Given the description of an element on the screen output the (x, y) to click on. 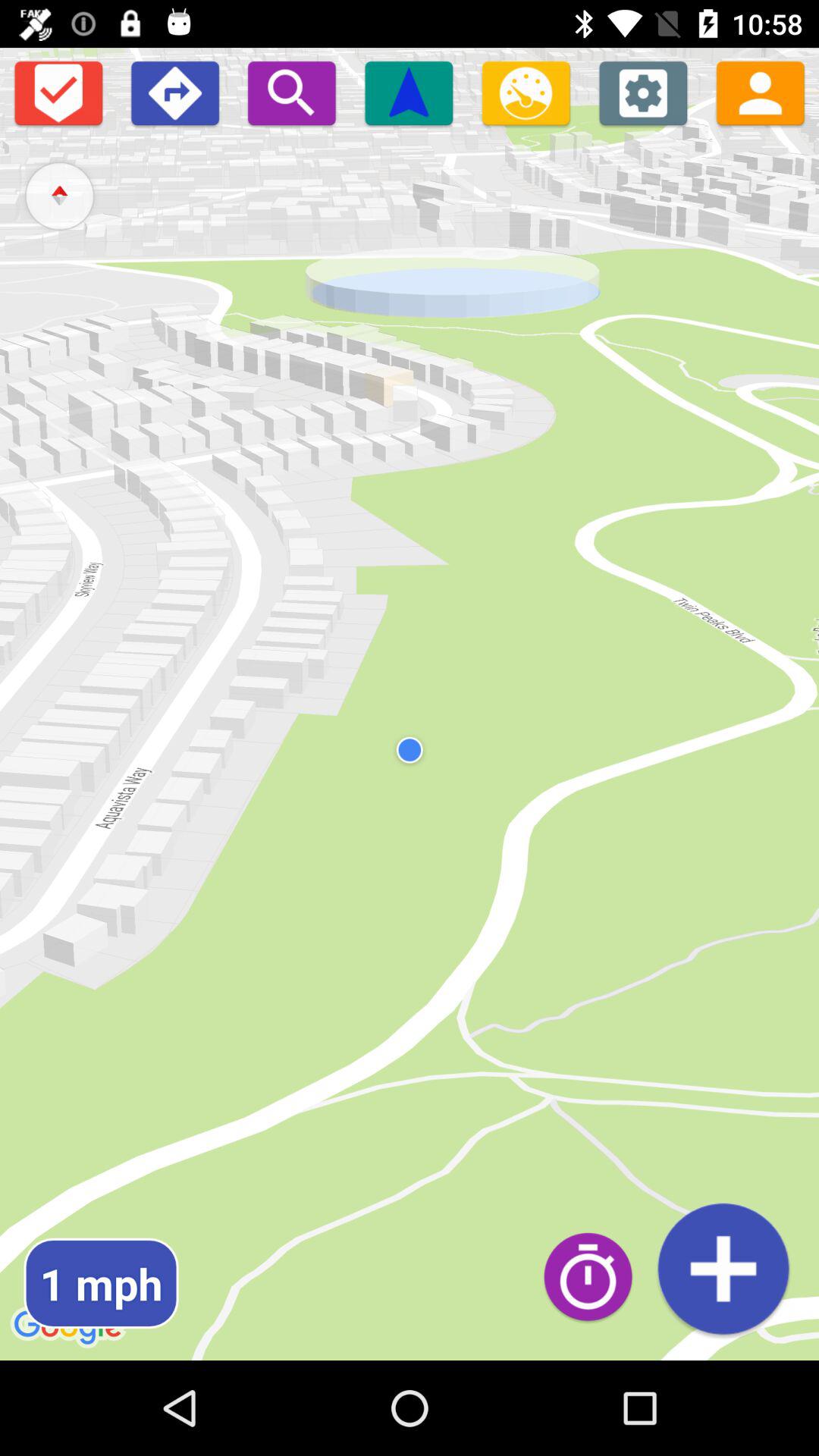
save map data (723, 1268)
